Given the description of an element on the screen output the (x, y) to click on. 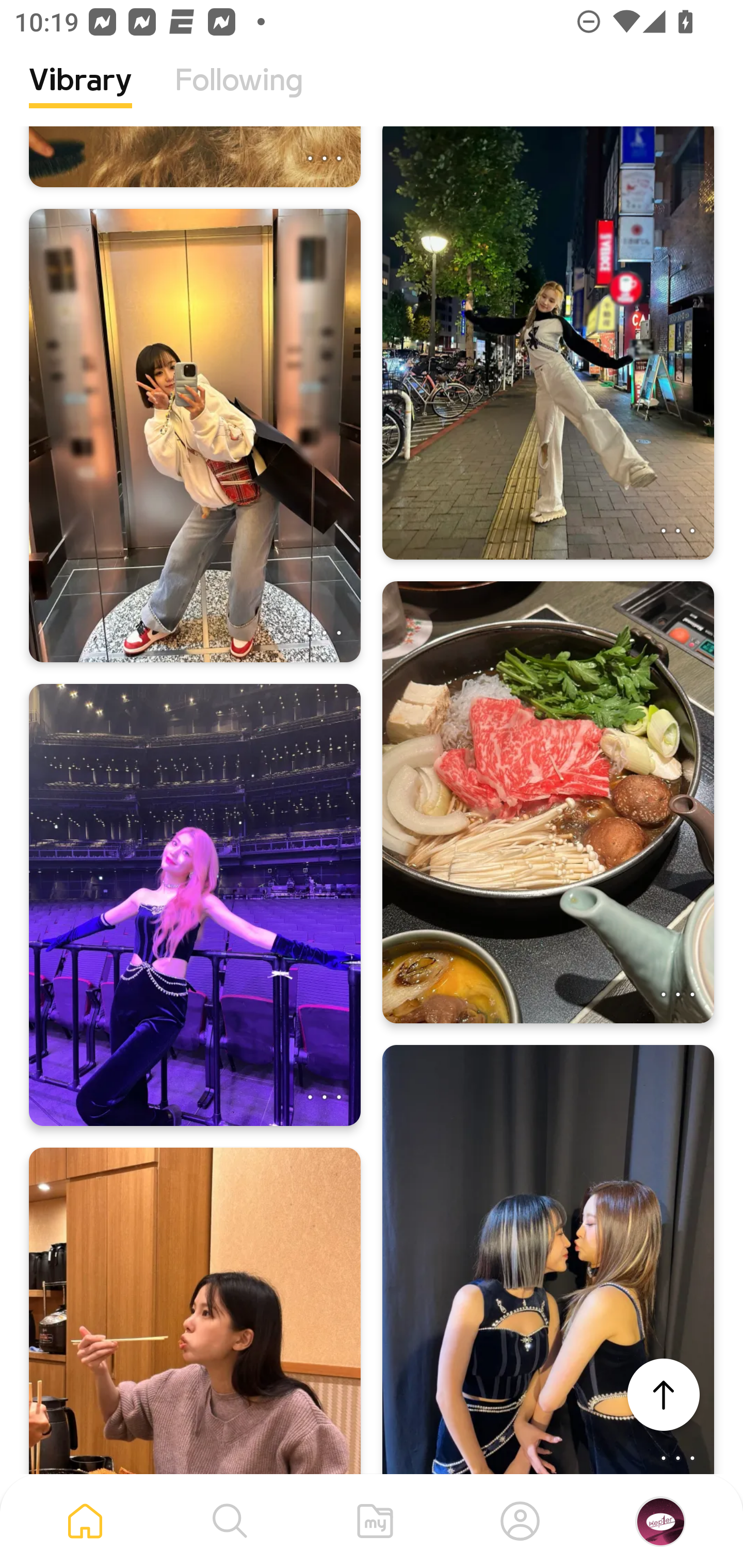
Vibrary (80, 95)
Following (239, 95)
